Given the description of an element on the screen output the (x, y) to click on. 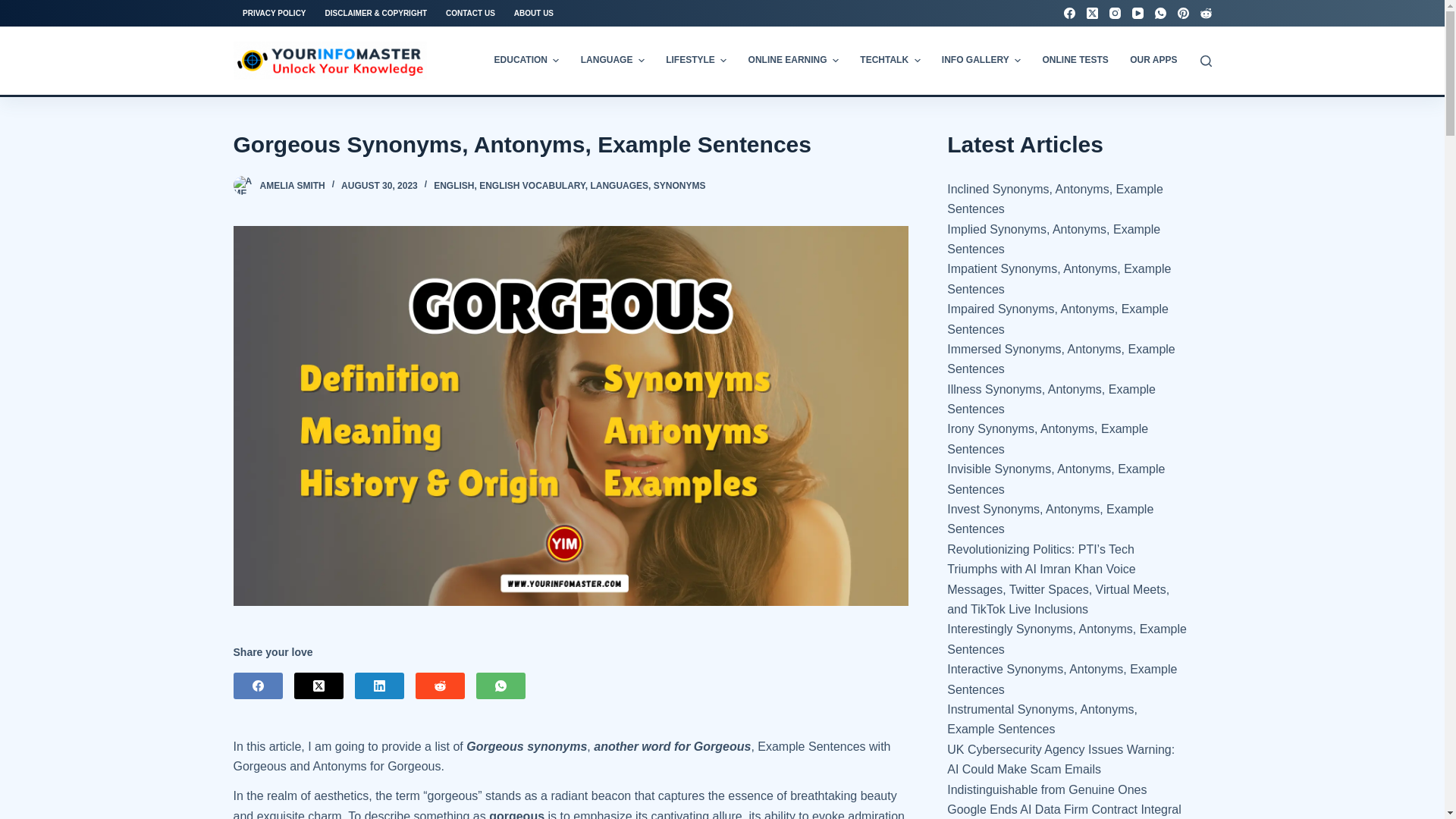
Skip to content (15, 7)
Posts by Amelia Smith (291, 185)
Gorgeous Synonyms, Antonyms, Example Sentences (570, 144)
